Given the description of an element on the screen output the (x, y) to click on. 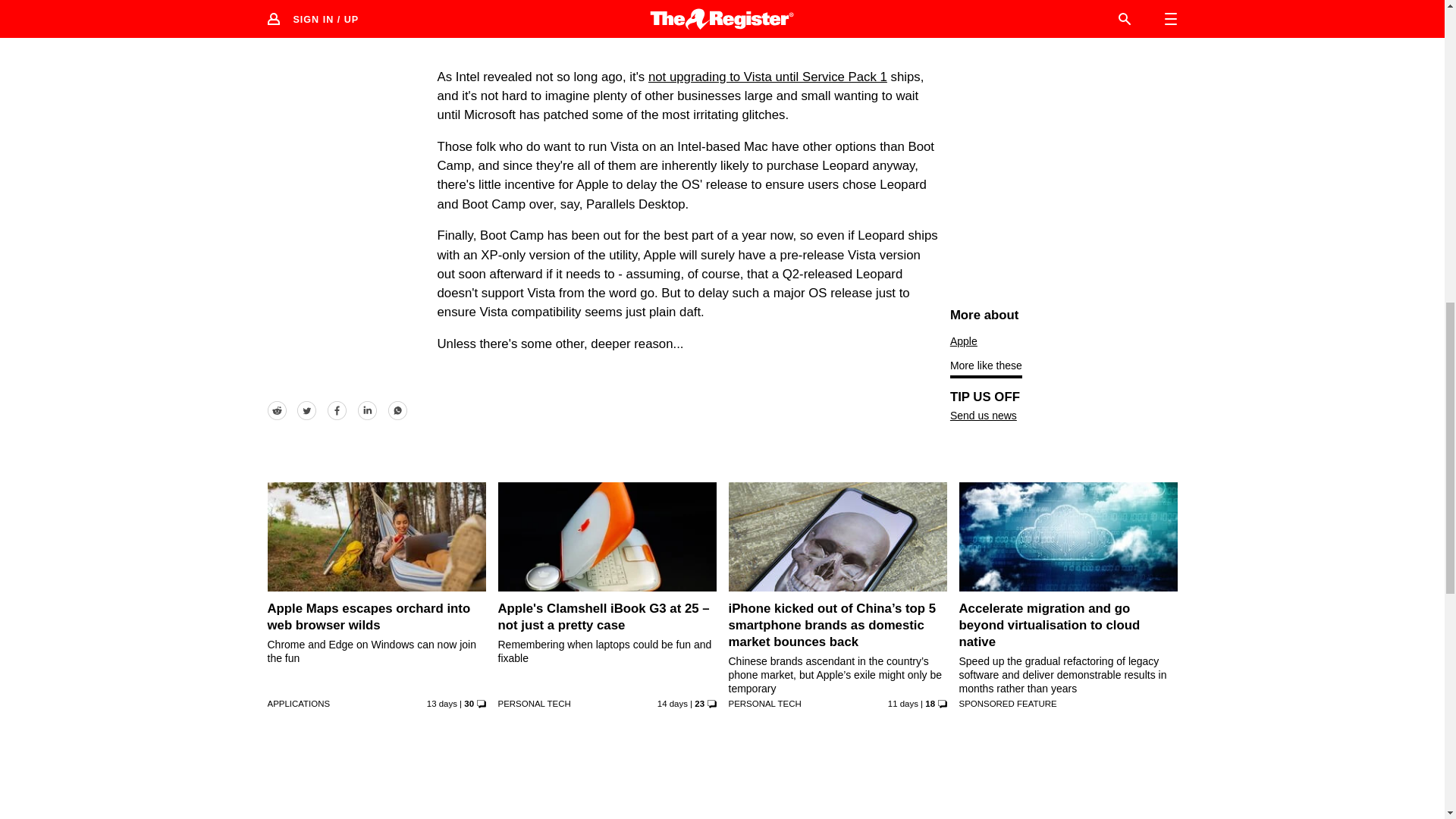
25 Jul 2024 15:34 (441, 703)
26 Jul 2024 19:26 (903, 703)
24 Jul 2024 9:25 (672, 703)
